Given the description of an element on the screen output the (x, y) to click on. 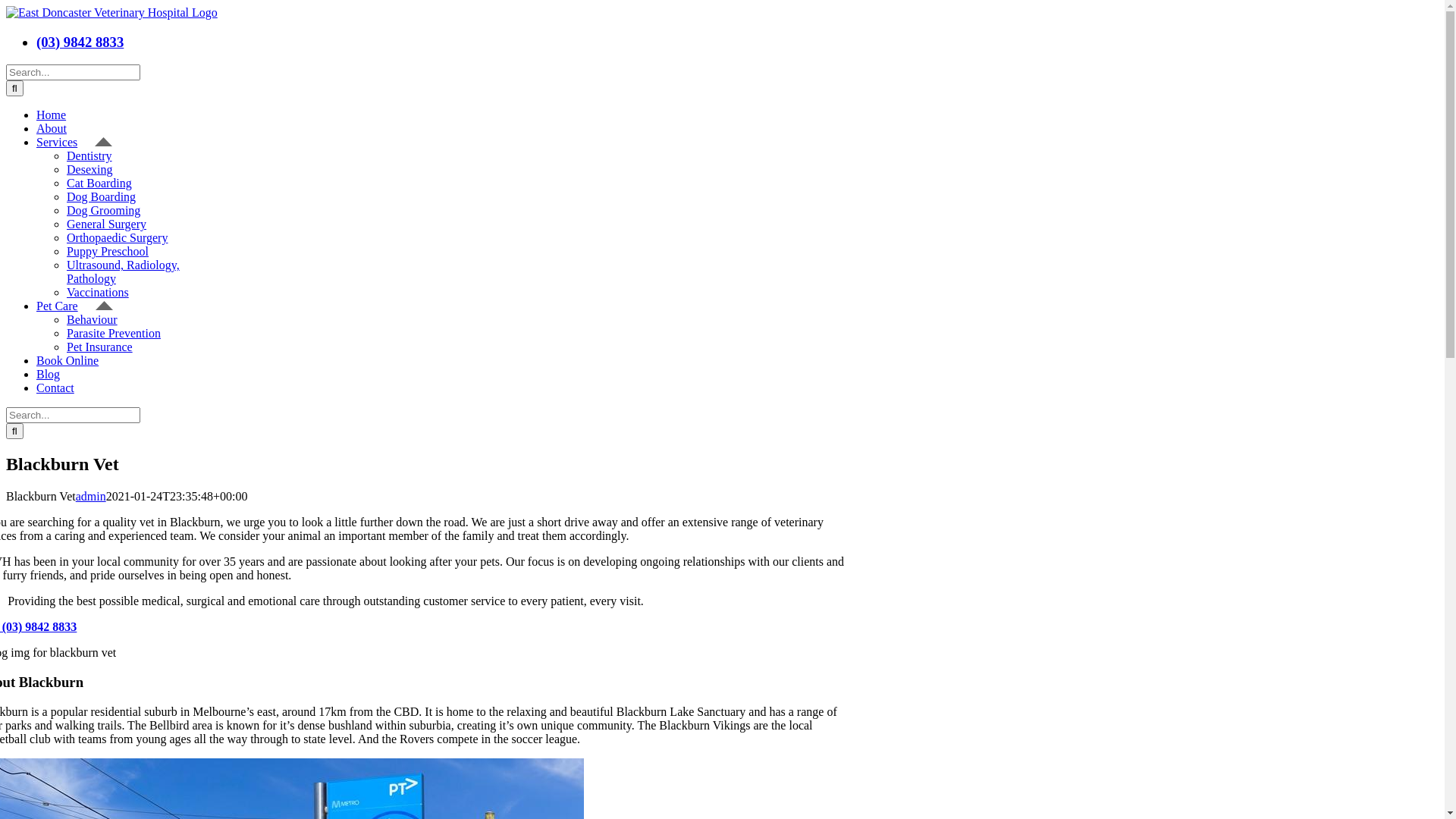
Puppy Preschool Element type: text (107, 250)
admin Element type: text (90, 495)
About Element type: text (60, 128)
Ultrasound, Radiology, Pathology Element type: text (122, 271)
General Surgery Element type: text (106, 223)
Dentistry Element type: text (89, 155)
Desexing Element type: text (89, 169)
Pet Insurance Element type: text (99, 346)
Orthopaedic Surgery Element type: text (116, 237)
Pet Care Element type: text (74, 305)
Skip to content Element type: text (5, 5)
(03) 9842 8833 Element type: text (79, 42)
Blog Element type: text (56, 373)
Services Element type: text (74, 141)
Dog Grooming Element type: text (103, 209)
Vaccinations Element type: text (97, 291)
Home Element type: text (59, 114)
Dog Boarding Element type: text (100, 196)
Parasite Prevention Element type: text (113, 332)
Book Online Element type: text (76, 360)
Behaviour Element type: text (91, 319)
Contact Element type: text (63, 387)
Cat Boarding Element type: text (98, 182)
